Given the description of an element on the screen output the (x, y) to click on. 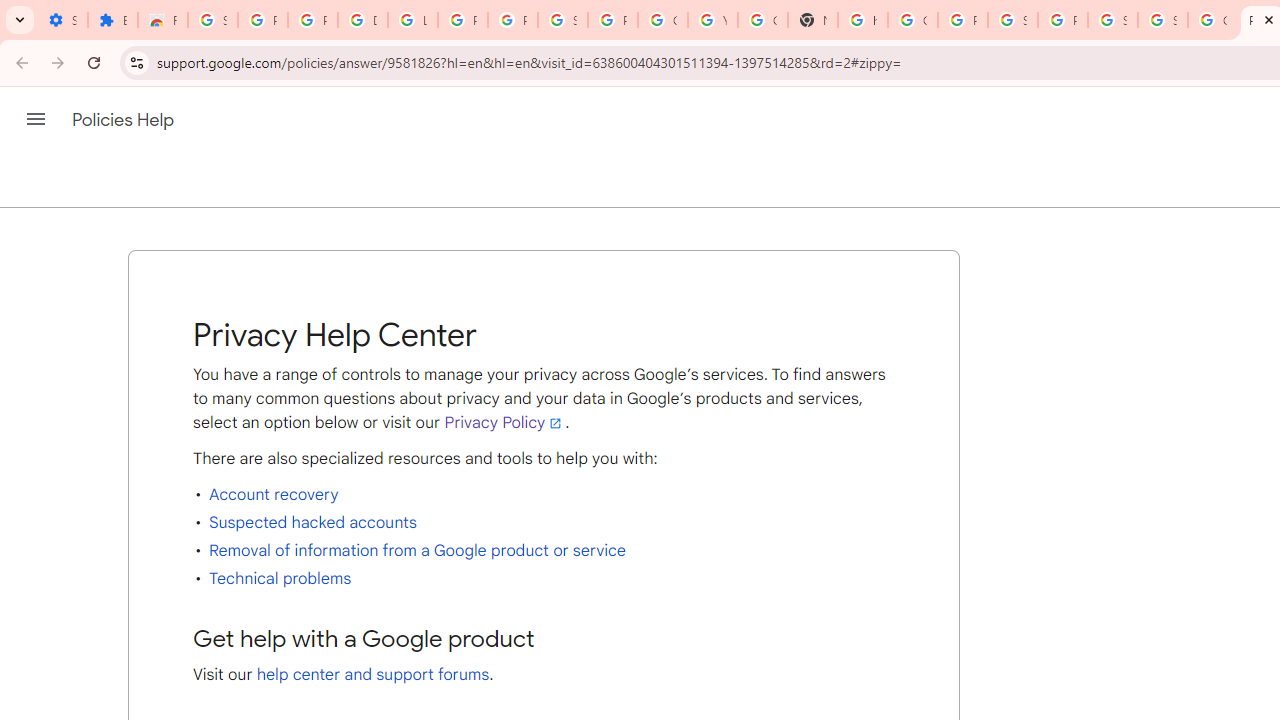
Delete photos & videos - Computer - Google Photos Help (362, 20)
